Given the description of an element on the screen output the (x, y) to click on. 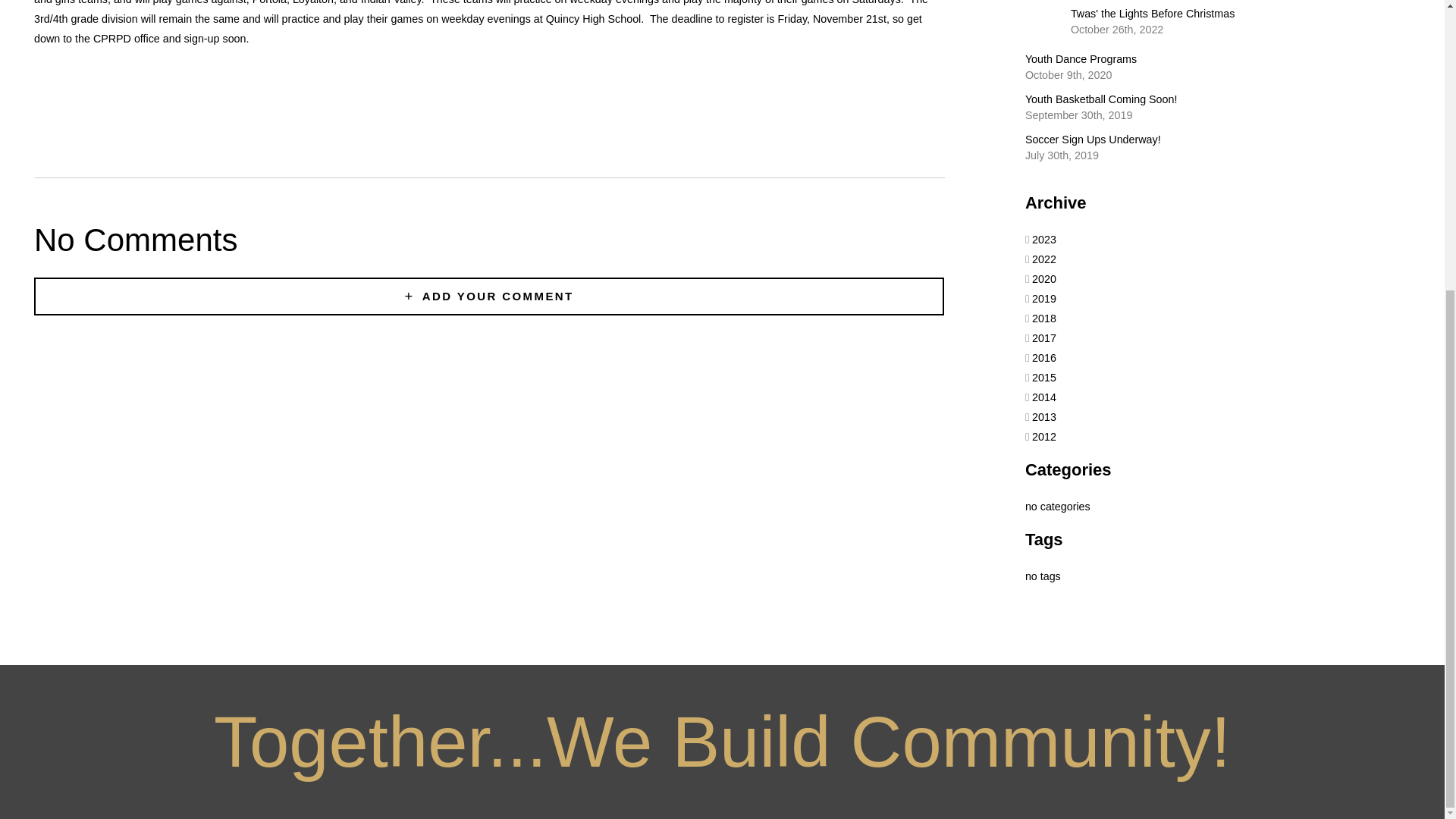
ADD YOUR COMMENT (1217, 147)
